Given the description of an element on the screen output the (x, y) to click on. 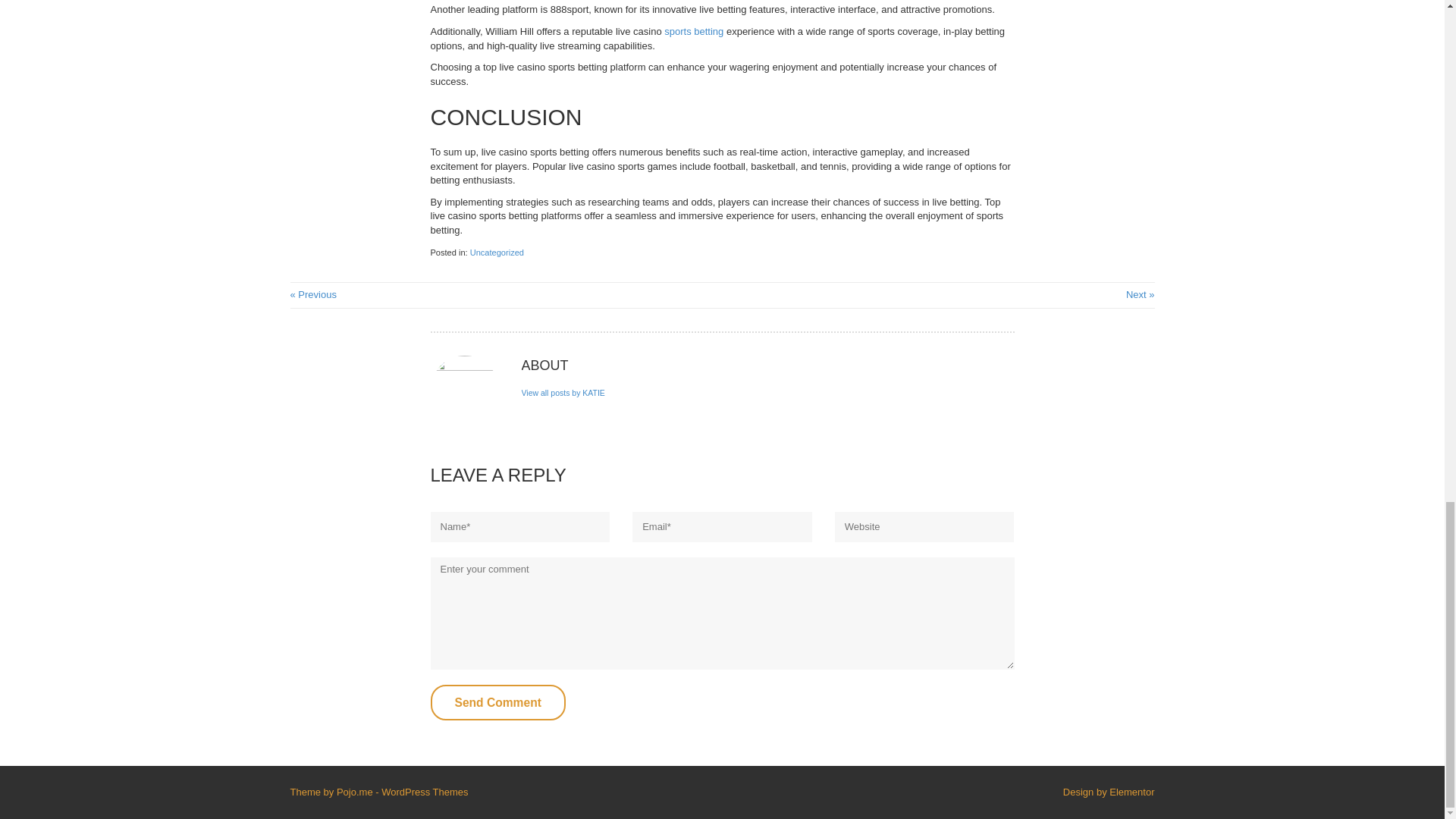
Send Comment (498, 702)
Elementor (1131, 791)
Pojo.me (354, 791)
View all posts by KATIE (563, 393)
Send Comment (498, 702)
Uncategorized (497, 252)
sports betting (693, 30)
